Given the description of an element on the screen output the (x, y) to click on. 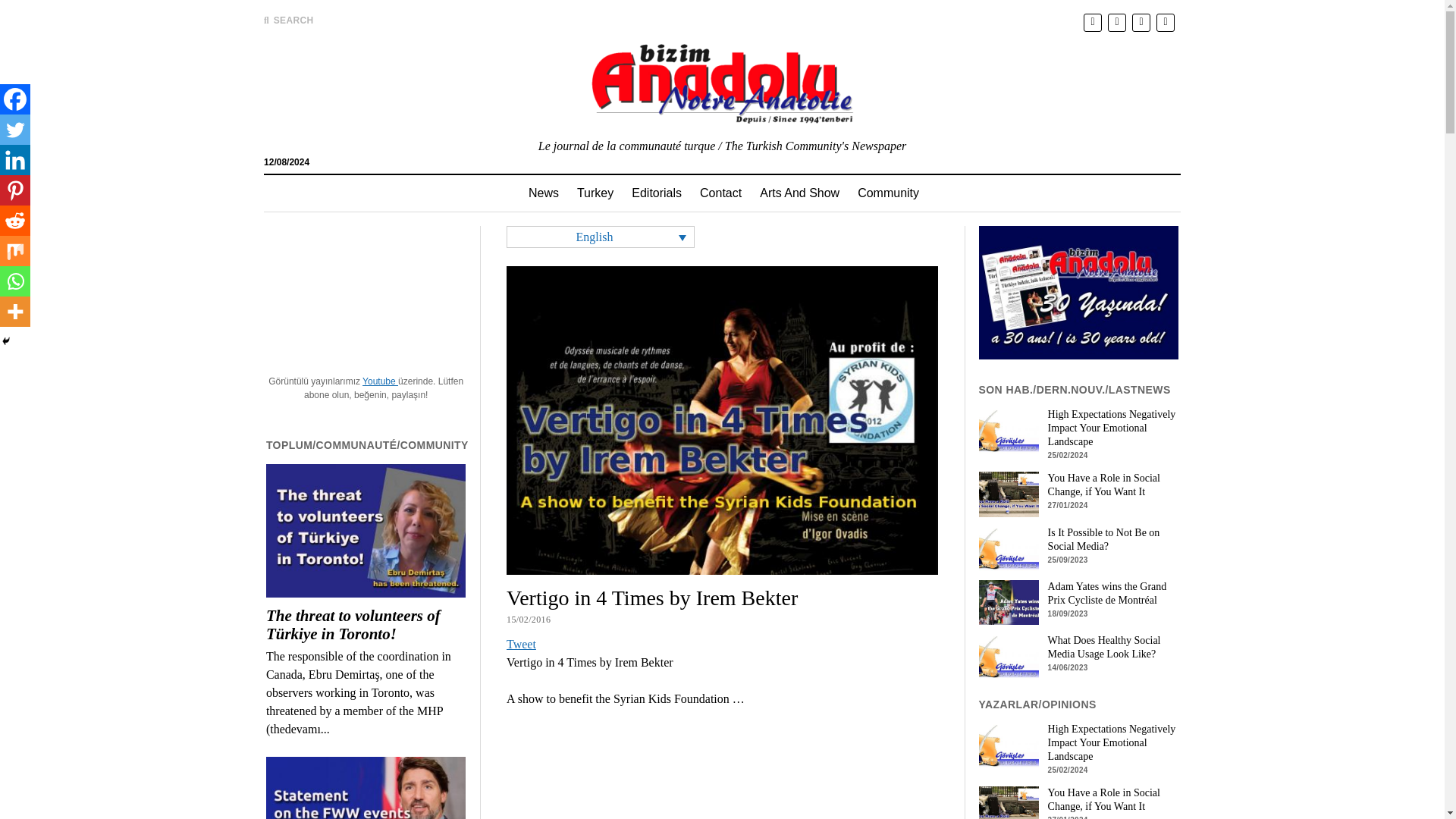
Search (945, 129)
Youtube (379, 380)
Tweet (520, 644)
Community (888, 193)
Turkey (595, 193)
SEARCH (288, 20)
Editorials (656, 193)
Contact (720, 193)
Advertisement (721, 809)
News (543, 193)
